Given the description of an element on the screen output the (x, y) to click on. 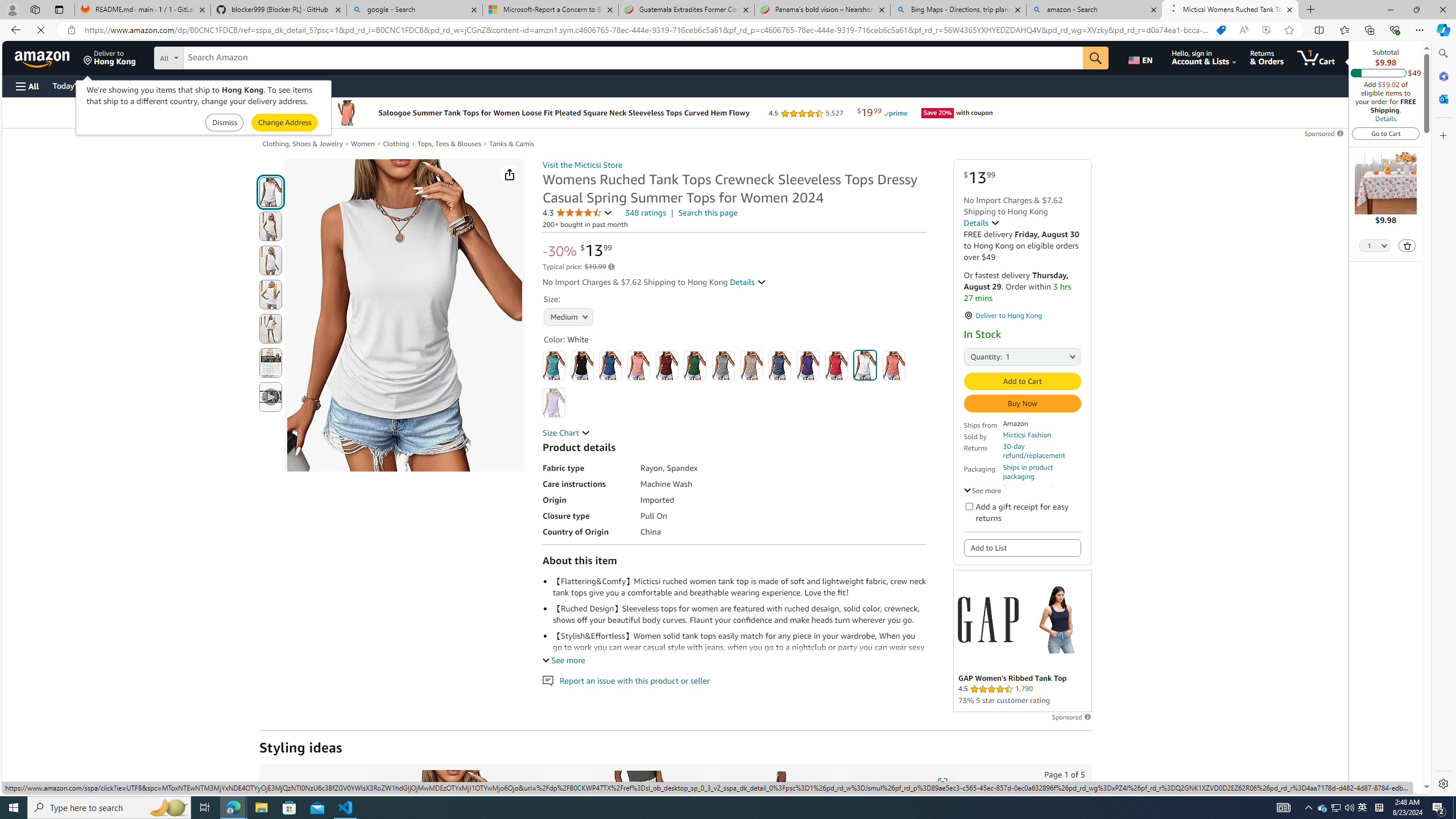
Khaki (751, 365)
Pink (894, 365)
Black (581, 365)
Visit the Micticsi Store (583, 164)
Aqua (553, 365)
Clothing, Shoes & Jewelry (306, 144)
Light Purple (553, 402)
30-day refund/replacement (1042, 451)
Open Menu (26, 86)
Blue (610, 365)
